Given the description of an element on the screen output the (x, y) to click on. 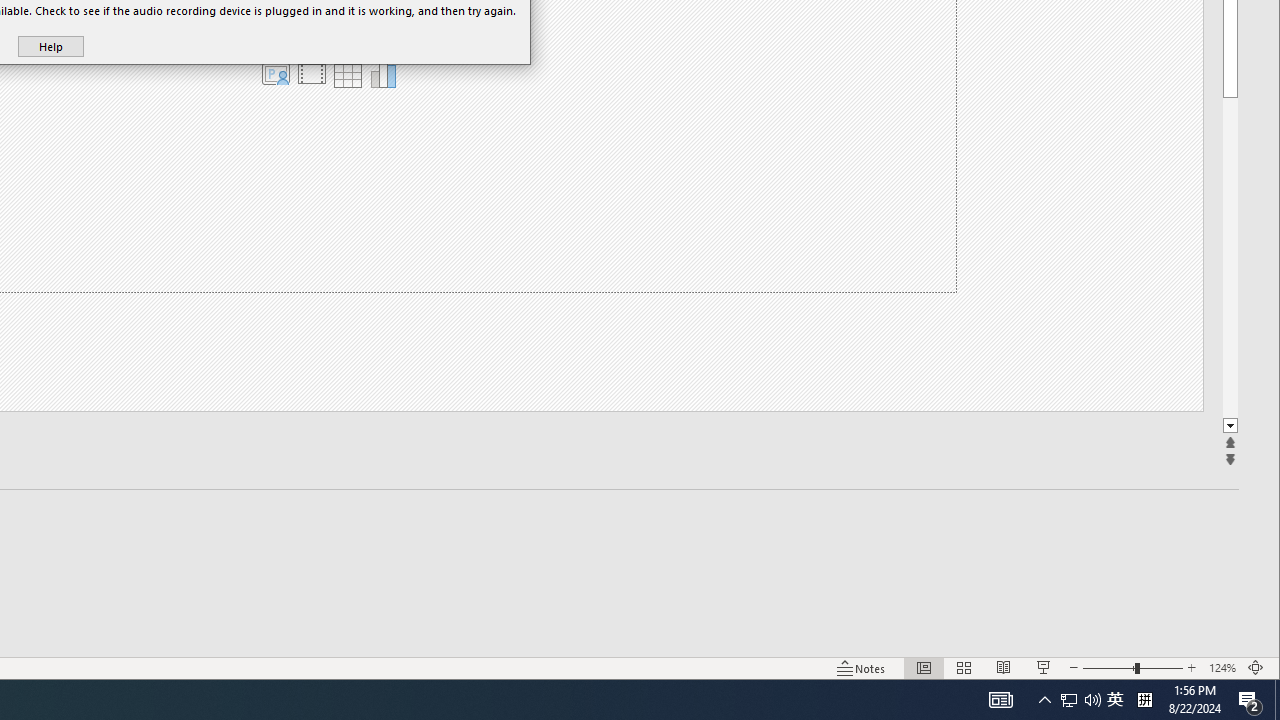
Zoom 124% (1222, 668)
